Given the description of an element on the screen output the (x, y) to click on. 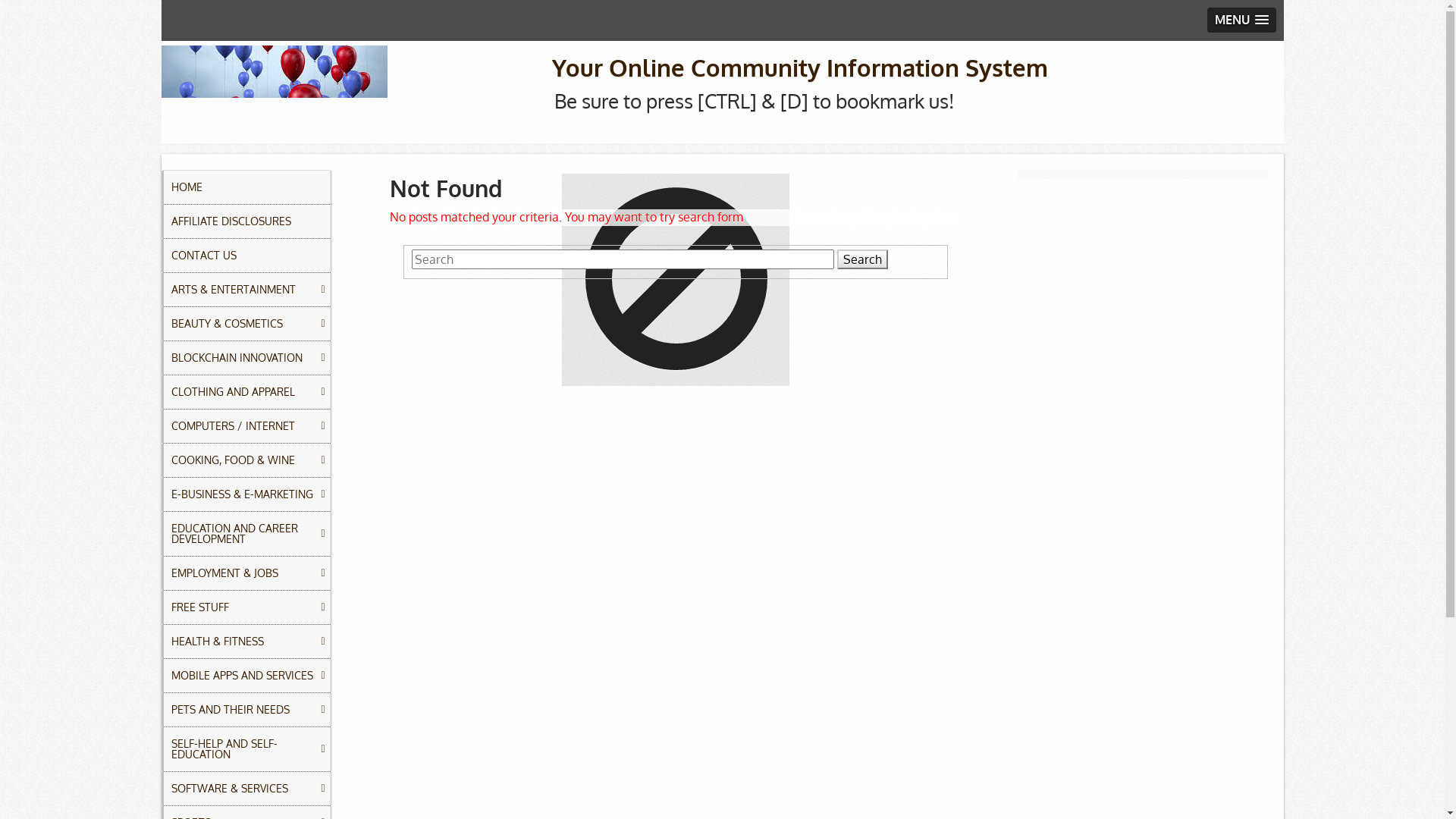
Your Online Community Information System Element type: text (800, 66)
PETS AND THEIR NEEDS Element type: text (245, 709)
CLOTHING AND APPAREL Element type: text (245, 391)
HEALTH & FITNESS Element type: text (245, 641)
Search Element type: text (862, 259)
CONTACT US Element type: text (245, 255)
AFFILIATE DISCLOSURES Element type: text (245, 221)
BEAUTY & COSMETICS Element type: text (245, 323)
FREE STUFF Element type: text (245, 607)
SELF-HELP AND SELF-EDUCATION Element type: text (245, 749)
HOME Element type: text (245, 186)
COMPUTERS / INTERNET Element type: text (245, 425)
ARTS & ENTERTAINMENT Element type: text (245, 289)
BLOCKCHAIN INNOVATION Element type: text (245, 357)
MOBILE APPS AND SERVICES Element type: text (245, 675)
EMPLOYMENT & JOBS Element type: text (245, 572)
COOKING, FOOD & WINE Element type: text (245, 459)
SOFTWARE & SERVICES Element type: text (245, 788)
MENU Element type: text (1241, 19)
Skip to content Element type: text (160, 40)
EDUCATION AND CAREER DEVELOPMENT Element type: text (245, 533)
E-BUSINESS & E-MARKETING Element type: text (245, 494)
